Given the description of an element on the screen output the (x, y) to click on. 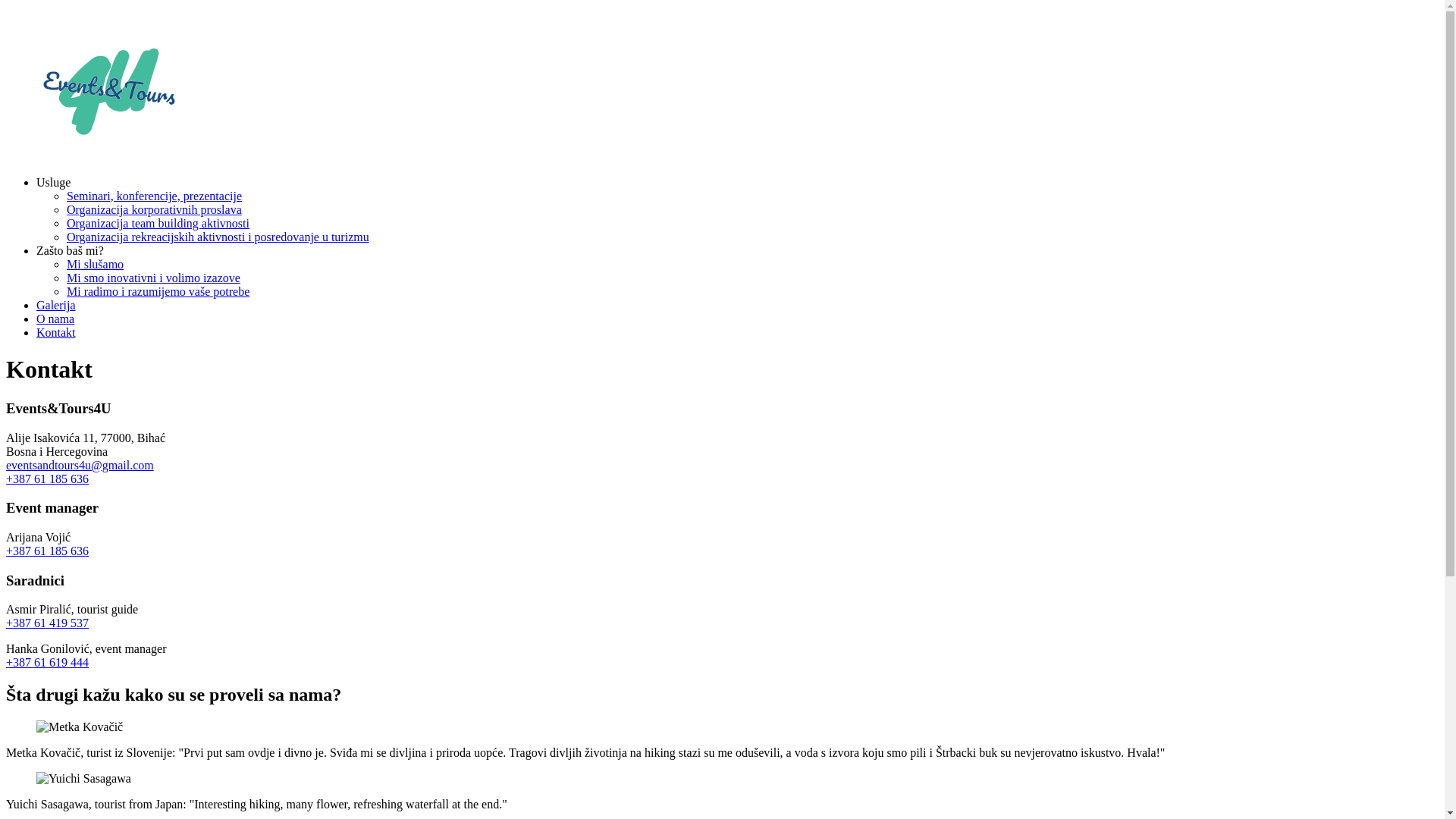
Seminari, konferencije, prezentacije Element type: text (153, 195)
+387 61 185 636 Element type: text (47, 478)
+387 61 619 444 Element type: text (47, 661)
+387 61 185 636 Element type: text (47, 550)
Galerija Element type: text (55, 304)
Mi smo inovativni i volimo izazove Element type: text (153, 277)
Organizacija korporativnih proslava Element type: text (153, 209)
Kontakt Element type: text (55, 332)
O nama Element type: text (55, 318)
+387 61 419 537 Element type: text (47, 622)
Organizacija team building aktivnosti Element type: text (157, 222)
eventsandtours4u@gmail.com Element type: text (79, 464)
